Given the description of an element on the screen output the (x, y) to click on. 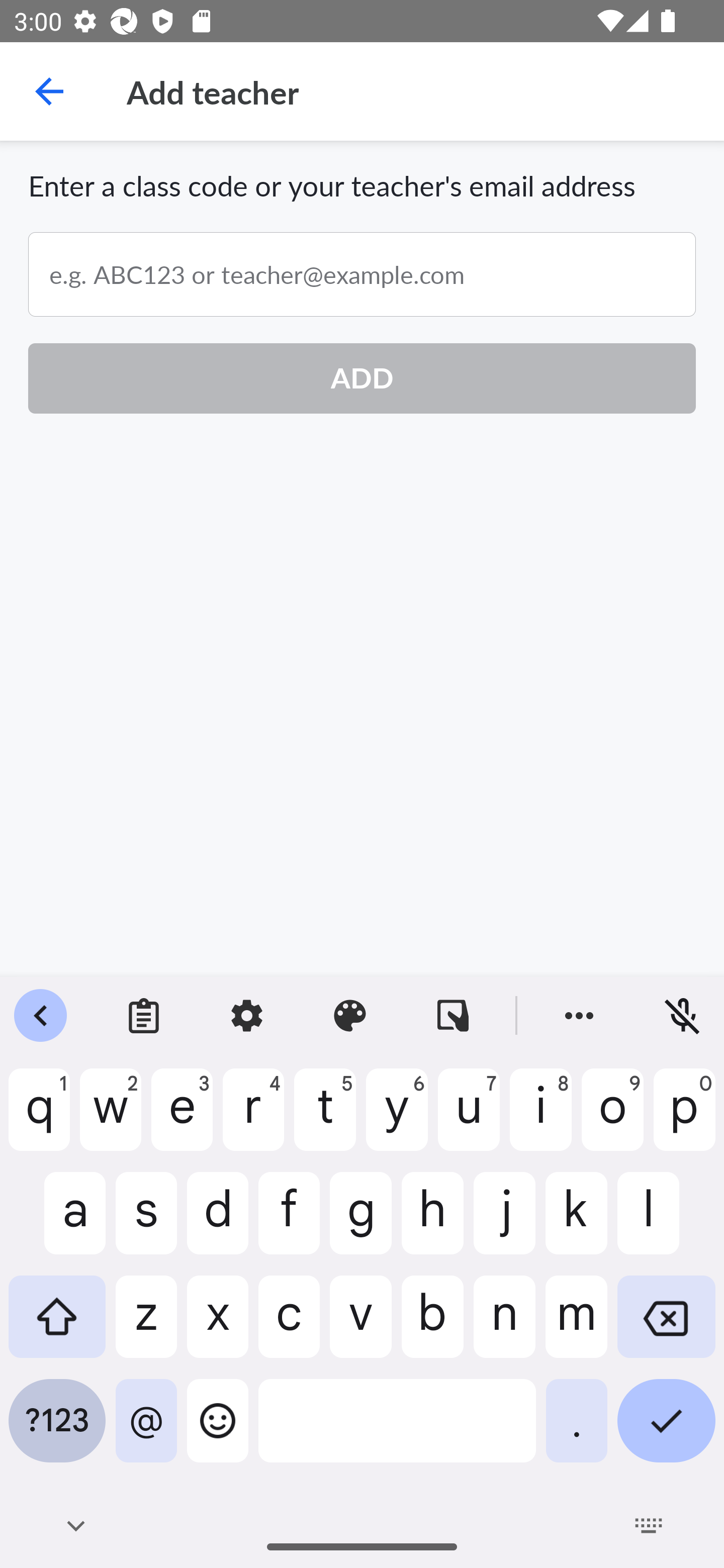
Navigate up (49, 91)
e.g. ABC123 or teacher@example.com (361, 274)
ADD (361, 378)
